Given the description of an element on the screen output the (x, y) to click on. 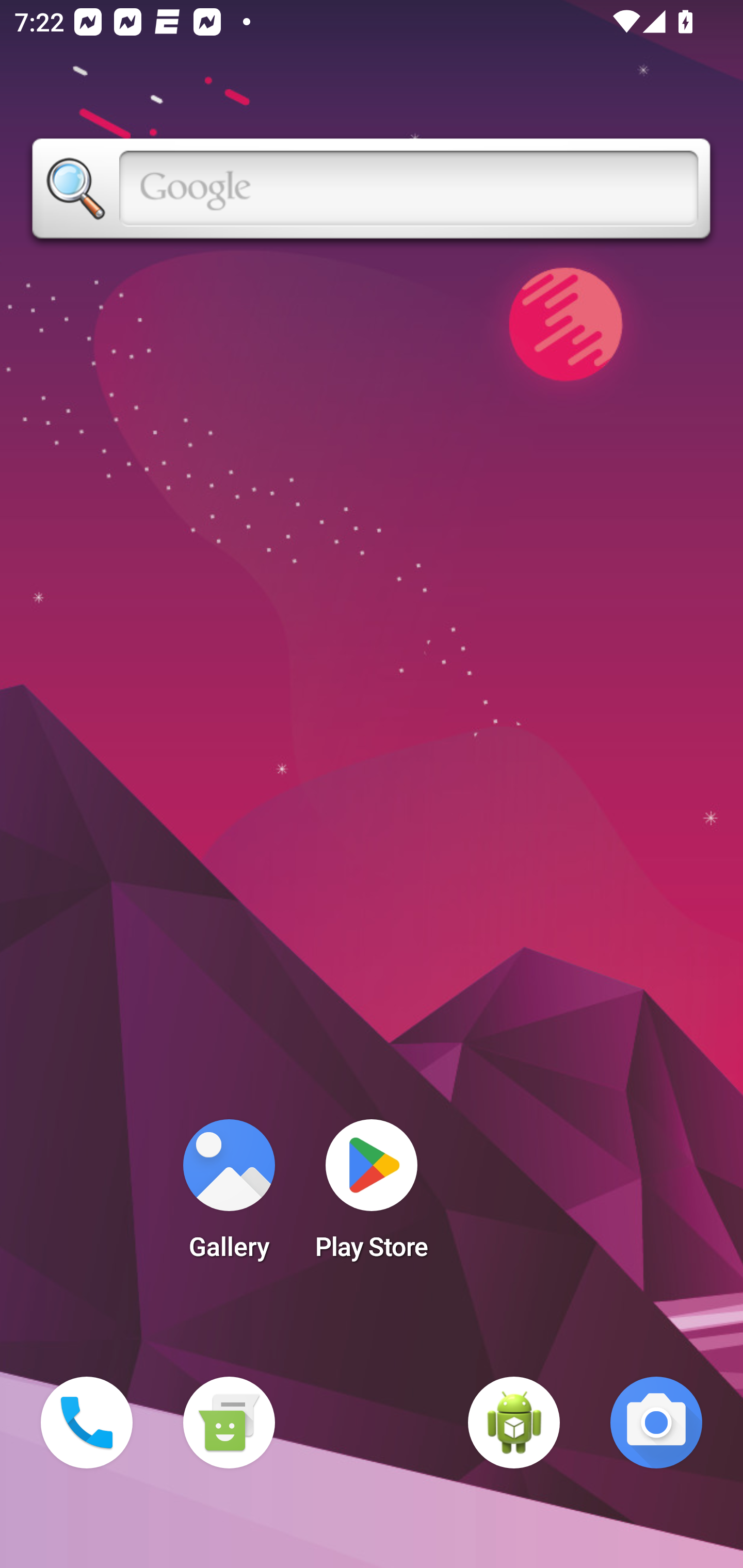
Gallery (228, 1195)
Play Store (371, 1195)
Phone (86, 1422)
Messaging (228, 1422)
WebView Browser Tester (513, 1422)
Camera (656, 1422)
